Given the description of an element on the screen output the (x, y) to click on. 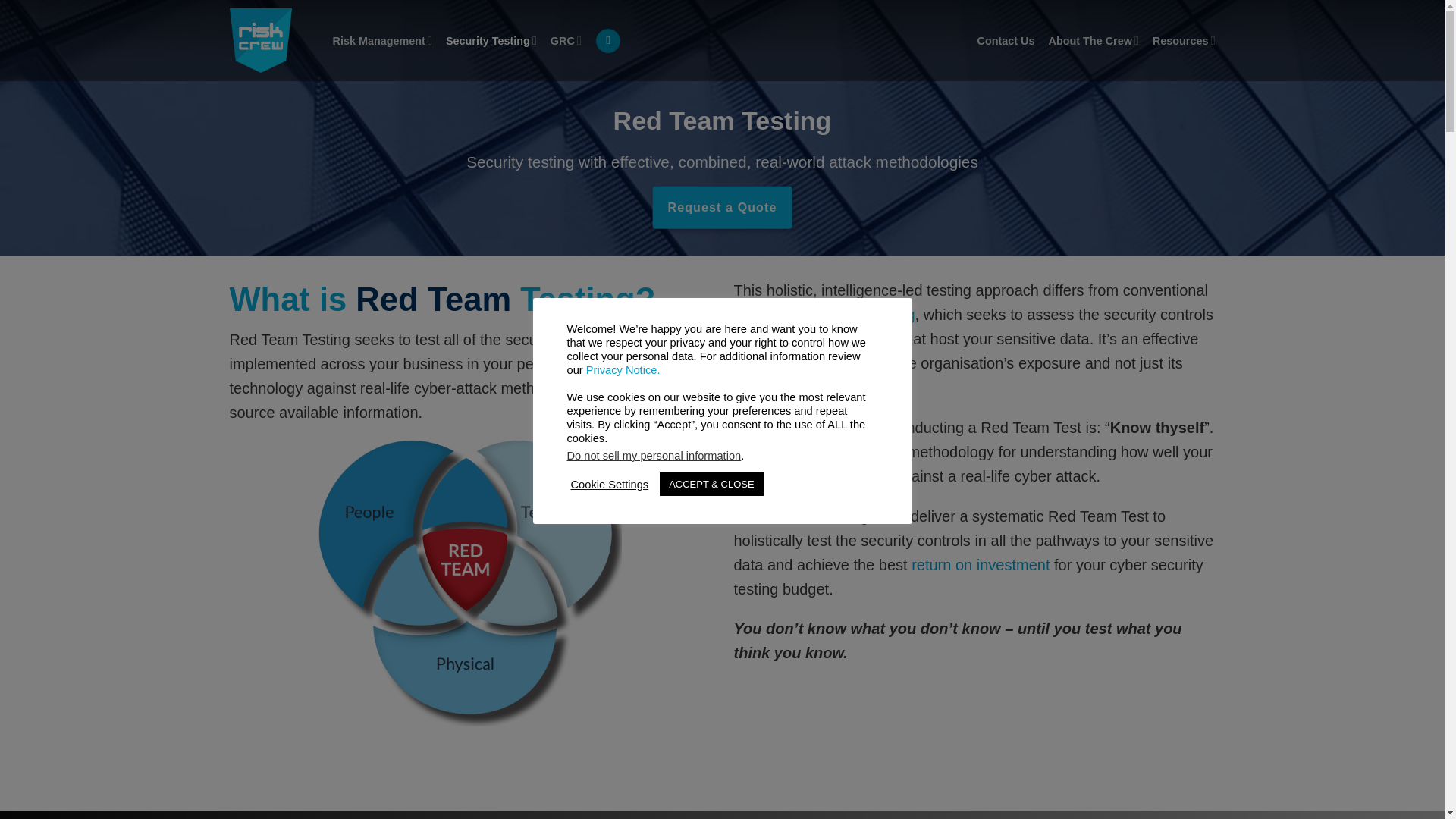
Security Testing (491, 40)
GRC (565, 40)
Risk Management (380, 40)
About The Crew (1093, 40)
Risk Crew - Information Risk Management Consultants (268, 40)
Contact Us (1005, 40)
